Given the description of an element on the screen output the (x, y) to click on. 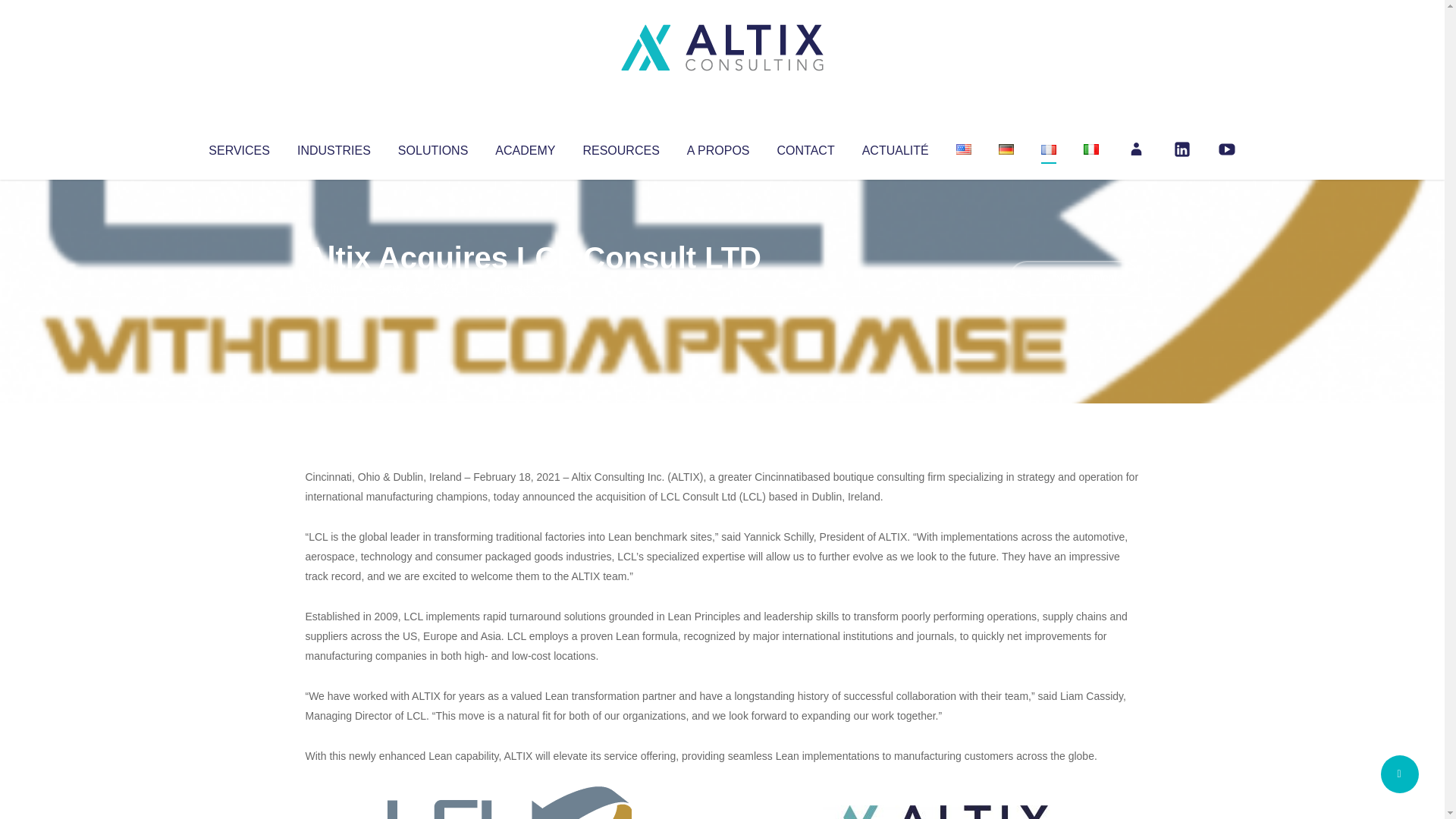
INDUSTRIES (334, 146)
Altix (333, 287)
Articles par Altix (333, 287)
No Comments (1073, 278)
A PROPOS (718, 146)
Uncategorized (530, 287)
SERVICES (238, 146)
RESOURCES (620, 146)
SOLUTIONS (432, 146)
ACADEMY (524, 146)
